Given the description of an element on the screen output the (x, y) to click on. 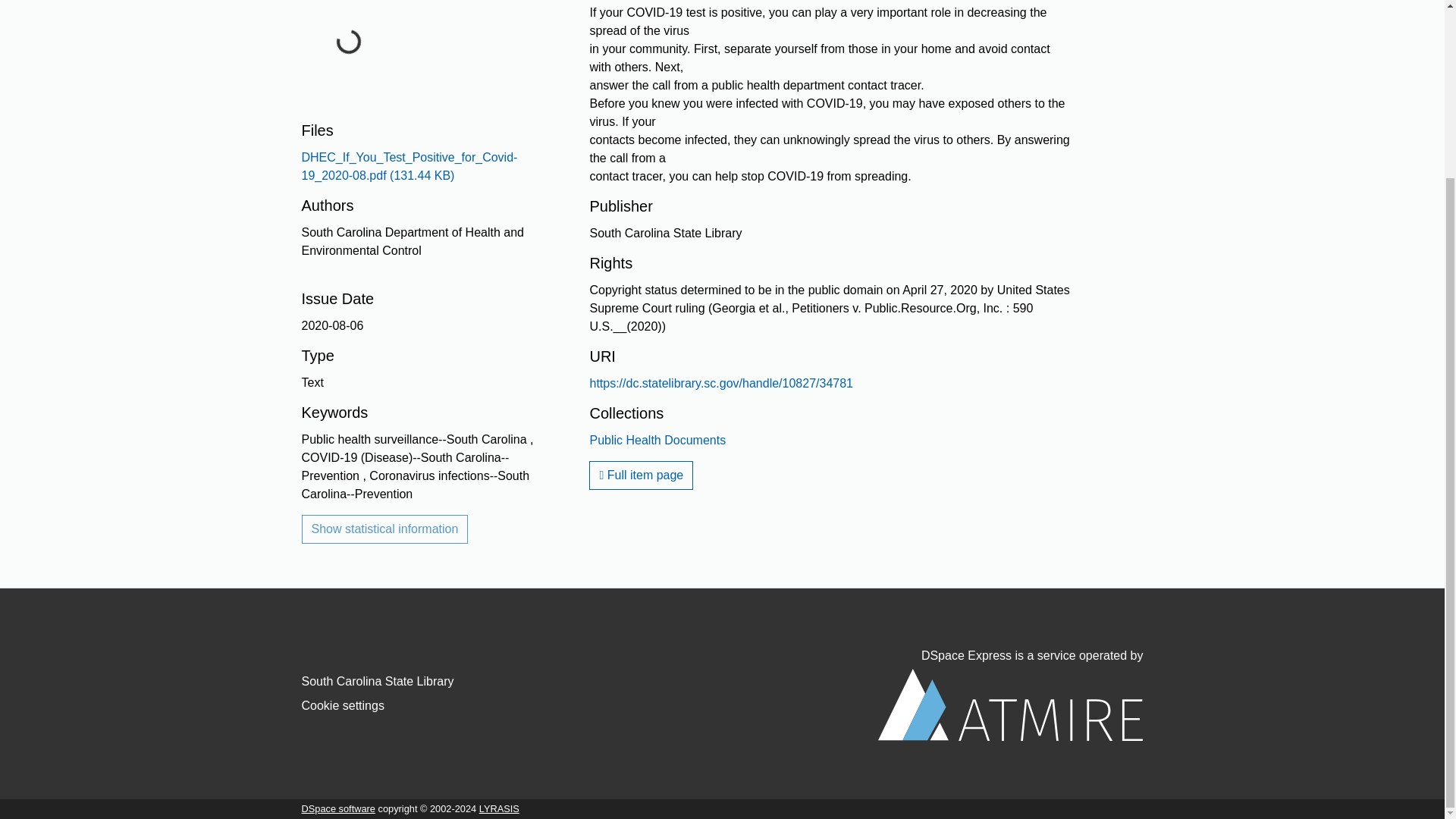
DSpace Express is a service operated by (1009, 695)
South Carolina State Library (377, 680)
LYRASIS (499, 808)
Cookie settings (342, 705)
DSpace software (338, 808)
Show statistical information (384, 529)
Full item page (641, 475)
Public Health Documents (657, 440)
